Given the description of an element on the screen output the (x, y) to click on. 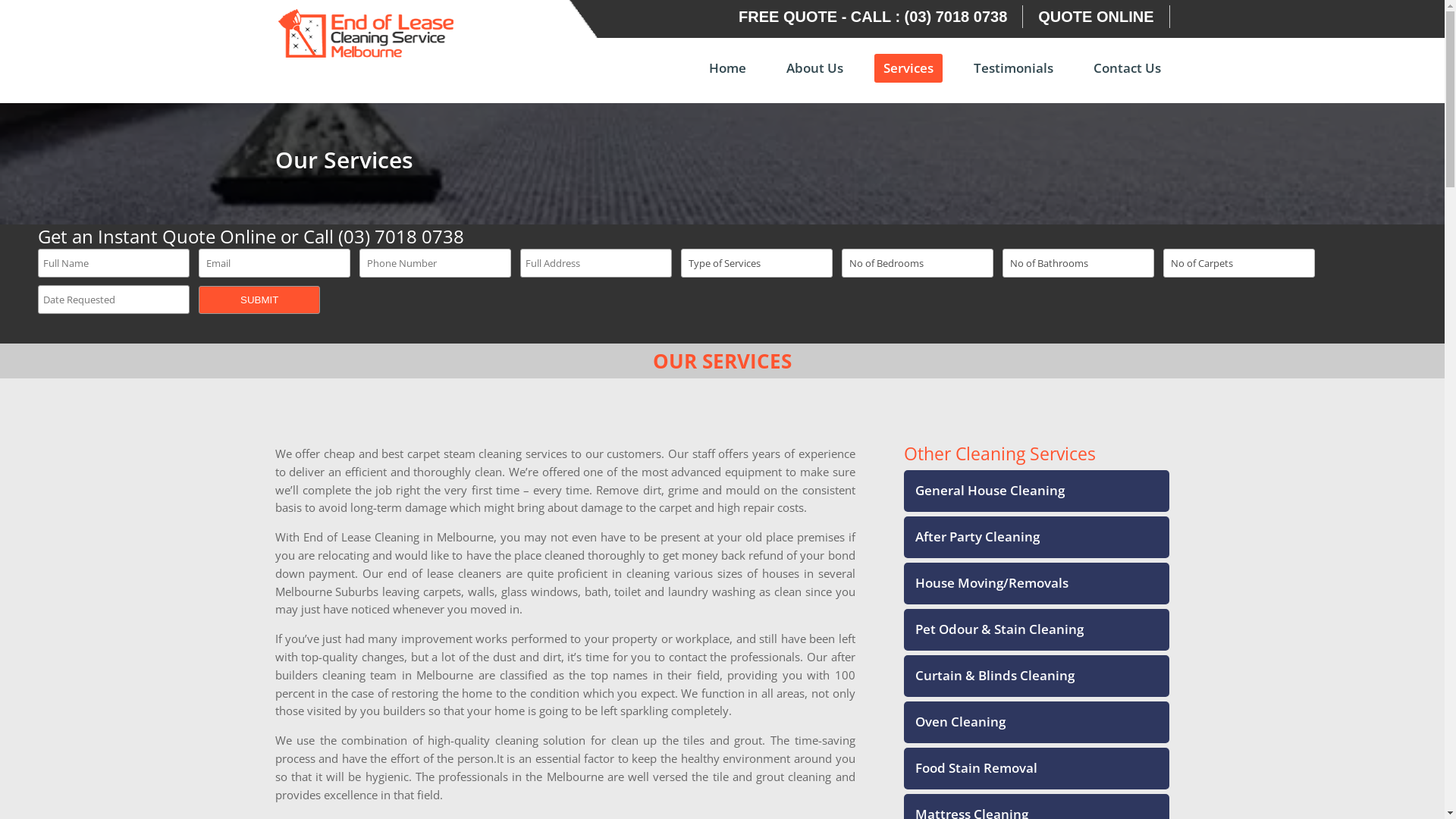
Contact Us Element type: text (1127, 78)
Oven Cleaning Element type: text (954, 721)
House Moving/Removals Element type: text (985, 582)
After Party Cleaning Element type: text (971, 536)
Curtain & Blinds Cleaning Element type: text (988, 675)
FREE QUOTE - CALL : (03) 7018 0738 Element type: text (872, 16)
Services Element type: text (907, 67)
QUOTE ONLINE Element type: text (1095, 16)
Submit Element type: text (259, 299)
General House Cleaning Element type: text (983, 489)
Testimonials Element type: text (1013, 78)
Home Element type: text (726, 78)
Pet Odour & Stain Cleaning Element type: text (993, 628)
About Us Element type: text (813, 78)
Food Stain Removal Element type: text (970, 767)
